Given the description of an element on the screen output the (x, y) to click on. 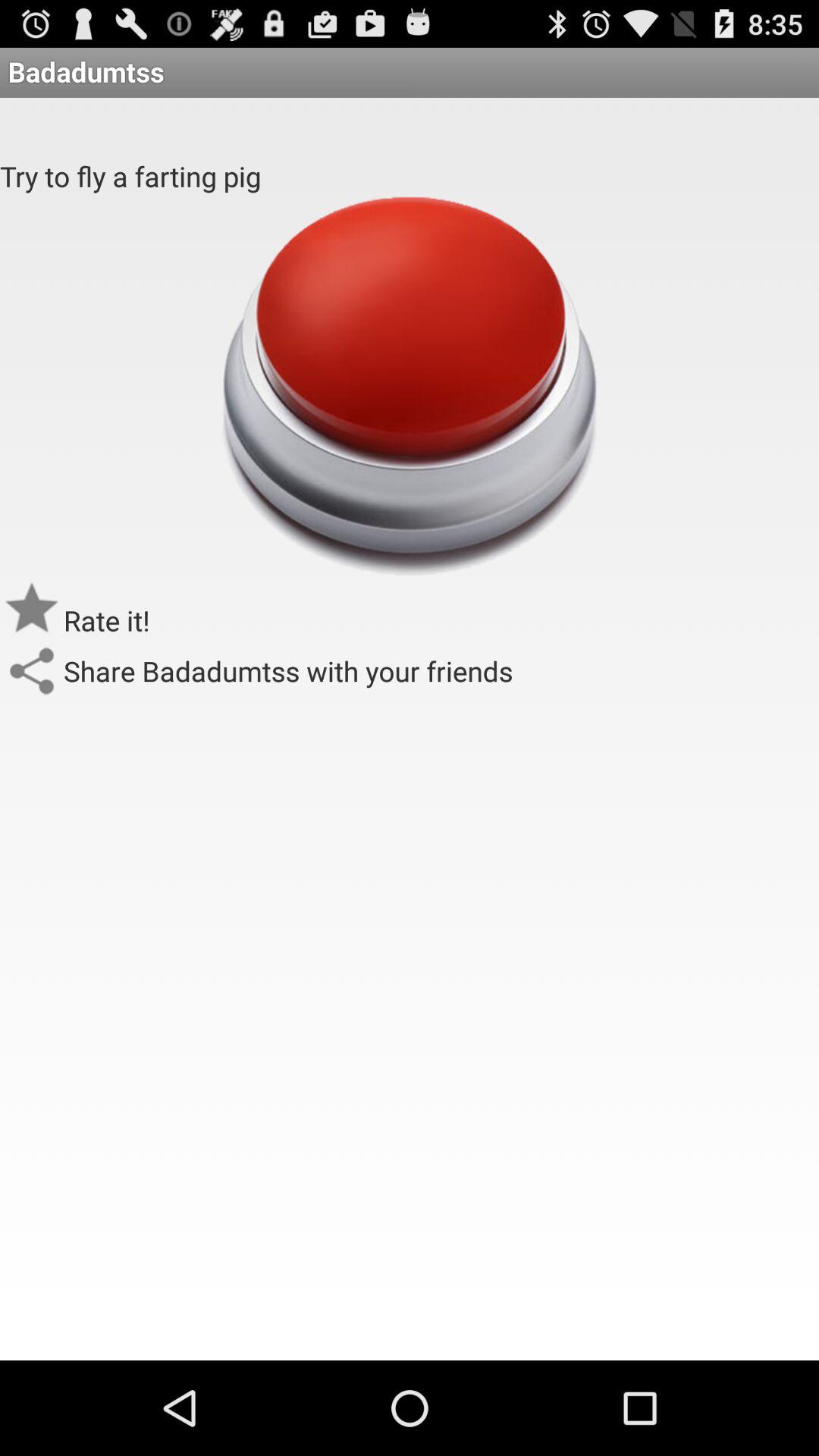
tap the try to fly app (130, 176)
